Given the description of an element on the screen output the (x, y) to click on. 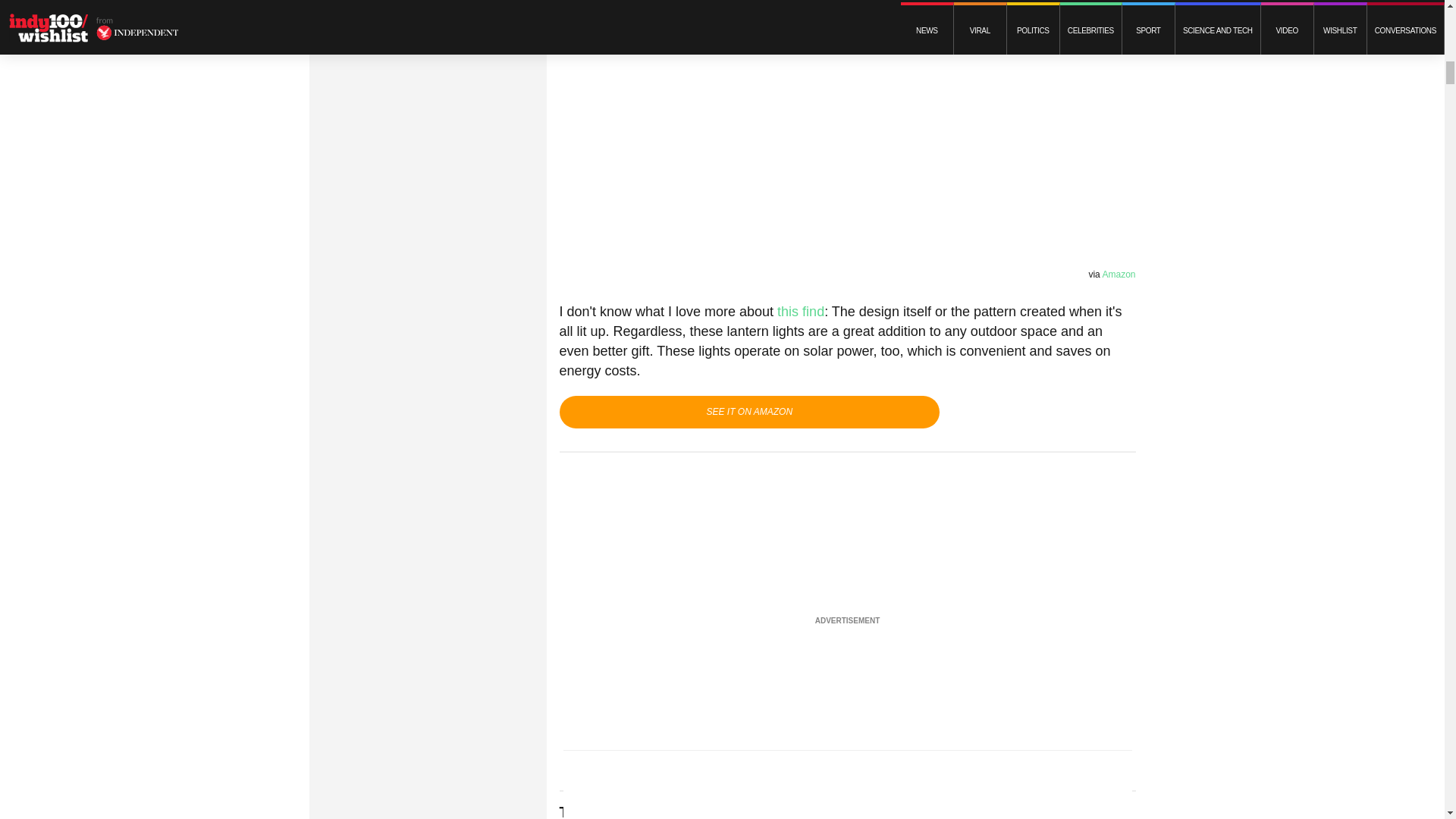
Amazon (1118, 273)
Cactus Humidifier (658, 811)
Buy Now (749, 411)
this find (800, 311)
